Given the description of an element on the screen output the (x, y) to click on. 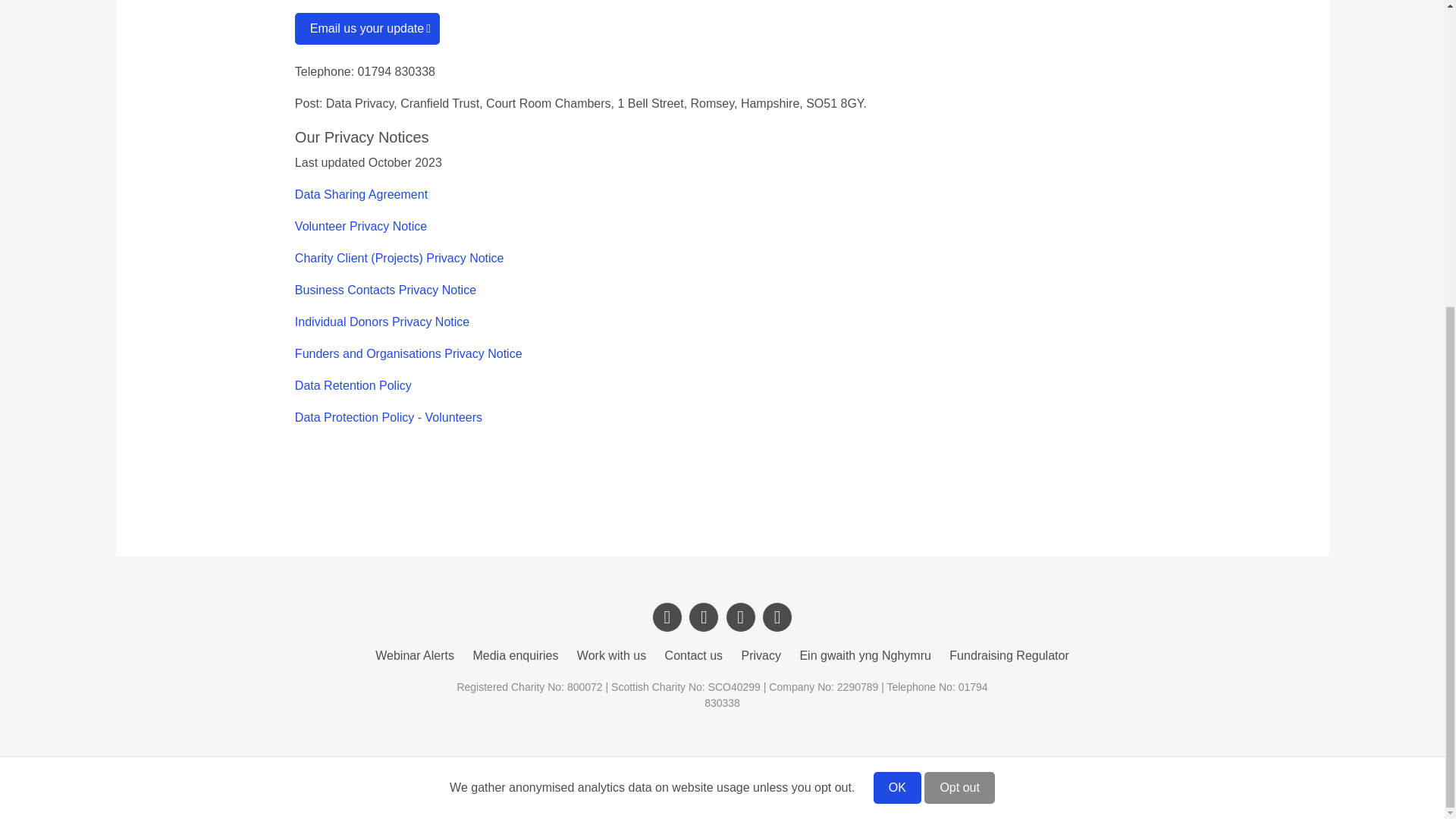
Data Sharing Agreement (361, 194)
Volunteer Privacy Notice (360, 226)
Fundraising Regulator (1008, 655)
OK (897, 303)
Contact us (693, 655)
Data Protection Policy - Volunteers (388, 417)
Work with us (611, 655)
Privacy (760, 655)
Opt out (959, 303)
Individual Donors Privacy Notice (381, 321)
